Given the description of an element on the screen output the (x, y) to click on. 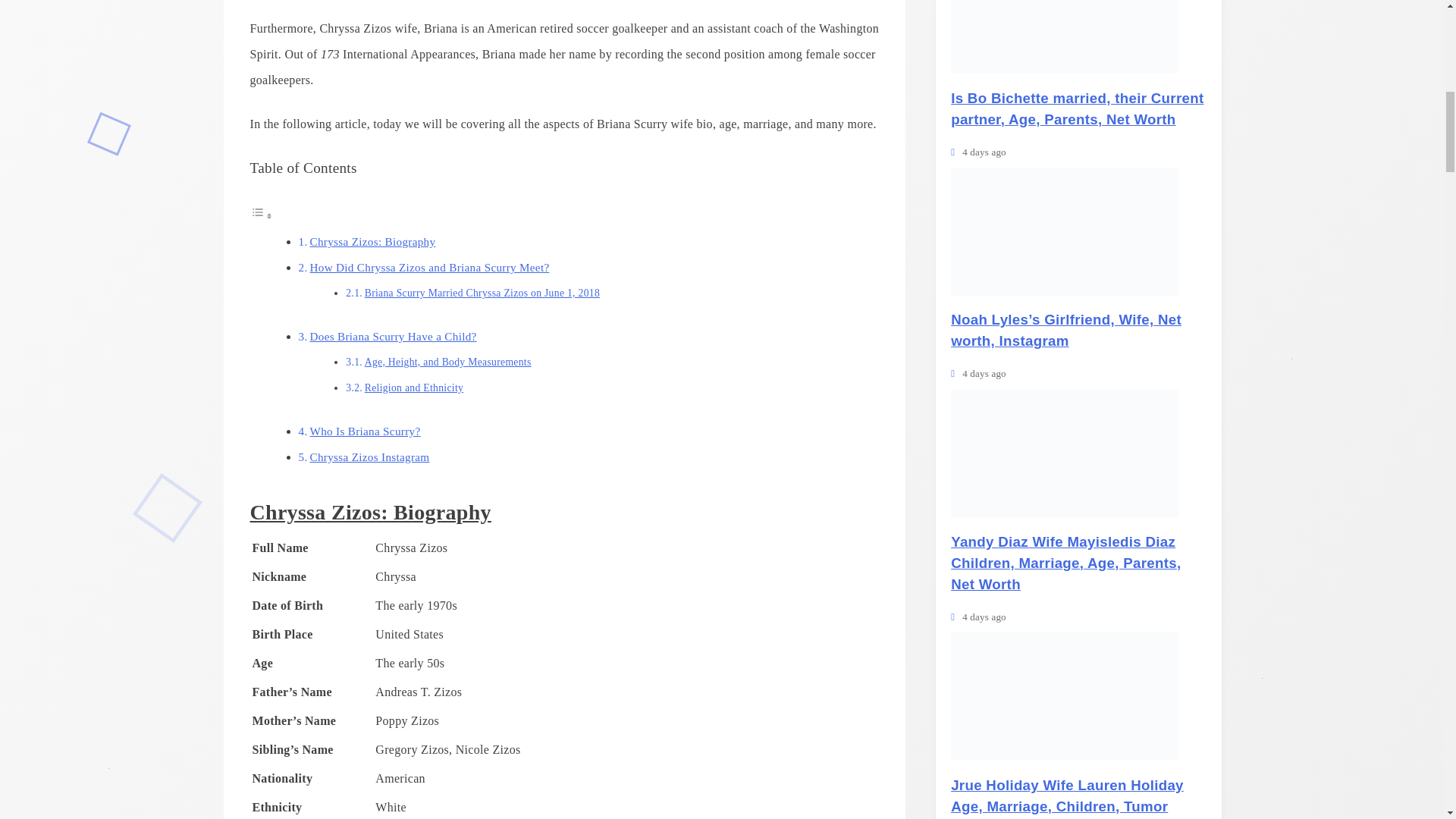
Age, Height, and Body Measurements (448, 361)
Religion and Ethnicity (414, 387)
Who Is Briana Scurry? (365, 430)
How Did Chryssa Zizos and Briana Scurry Meet? (430, 267)
Age, Height, and Body Measurements (448, 361)
Religion and Ethnicity (414, 387)
Briana Scurry Married Chryssa Zizos on June 1, 2018 (482, 292)
Chryssa Zizos: Biography (372, 240)
Briana Scurry Married Chryssa Zizos on June 1, 2018 (482, 292)
Who Is Briana Scurry? (365, 430)
Chryssa Zizos Instagram (369, 456)
Does Briana Scurry Have a Child? (393, 335)
Chryssa Zizos Instagram (369, 456)
Chryssa Zizos: Biography (372, 240)
How Did Chryssa Zizos and Briana Scurry Meet? (430, 267)
